Given the description of an element on the screen output the (x, y) to click on. 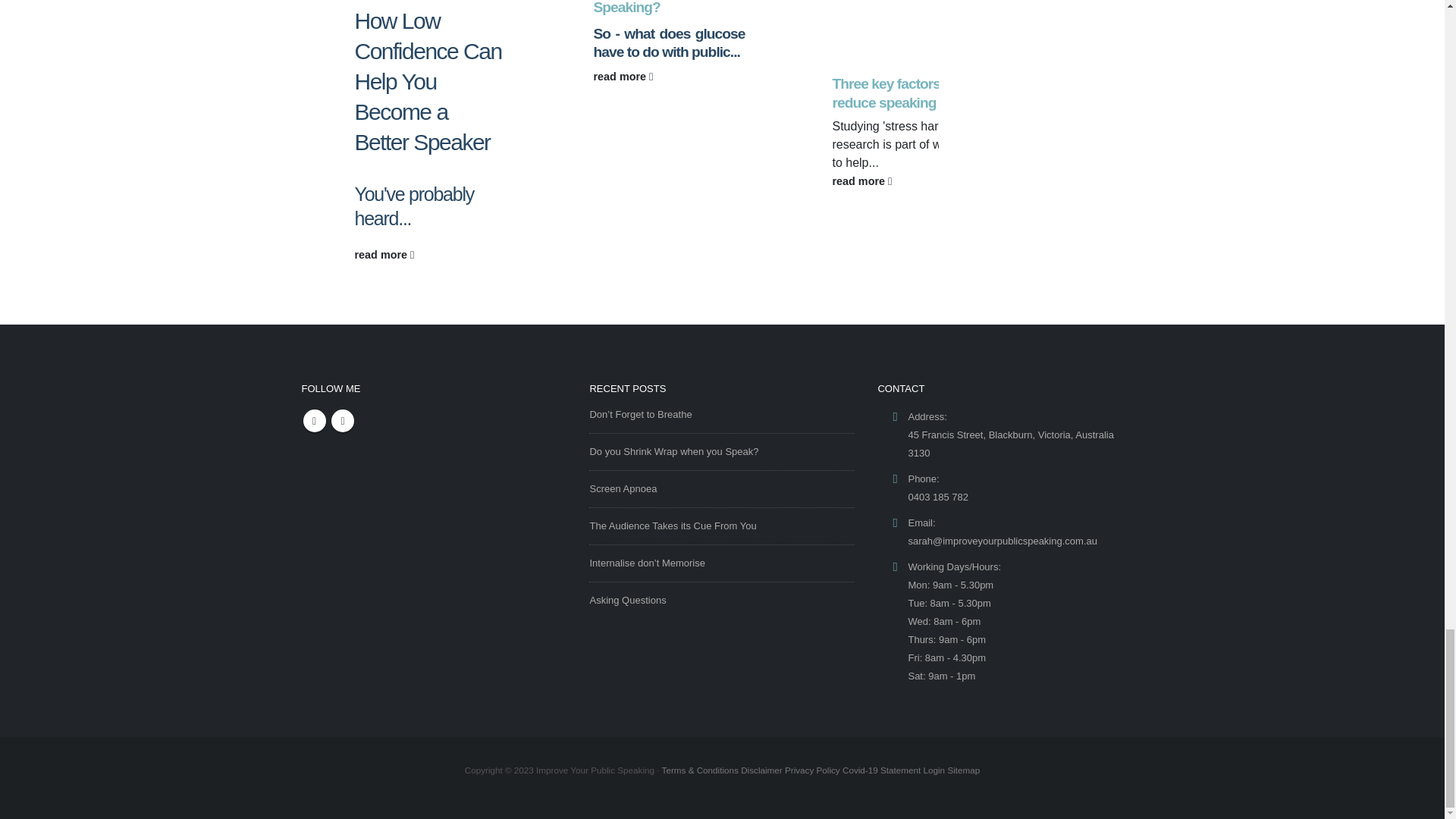
Linkedin (314, 420)
Vimeo (342, 420)
